Given the description of an element on the screen output the (x, y) to click on. 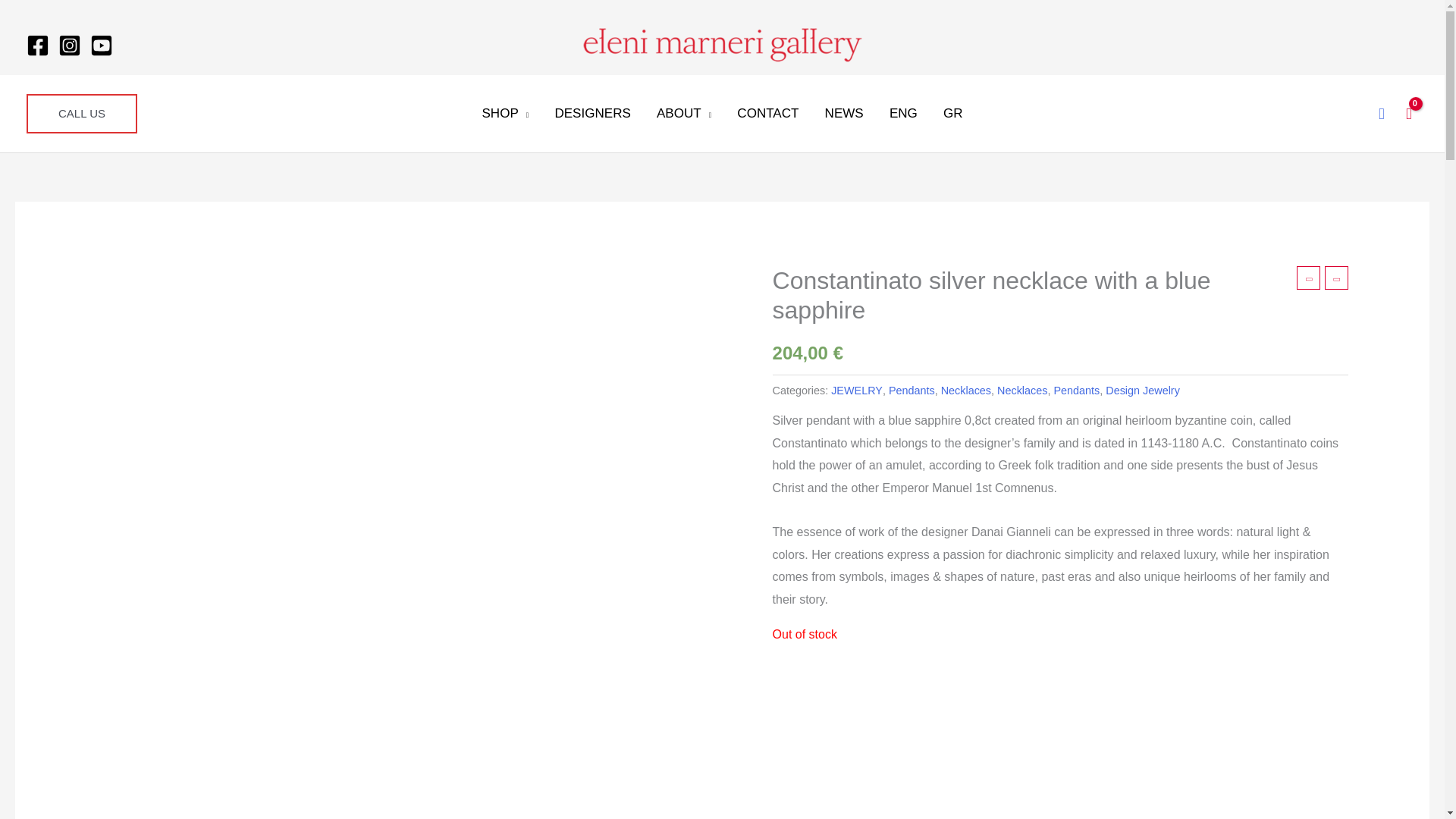
ENG (903, 113)
CALL US (81, 113)
SHOP (504, 113)
